Given the description of an element on the screen output the (x, y) to click on. 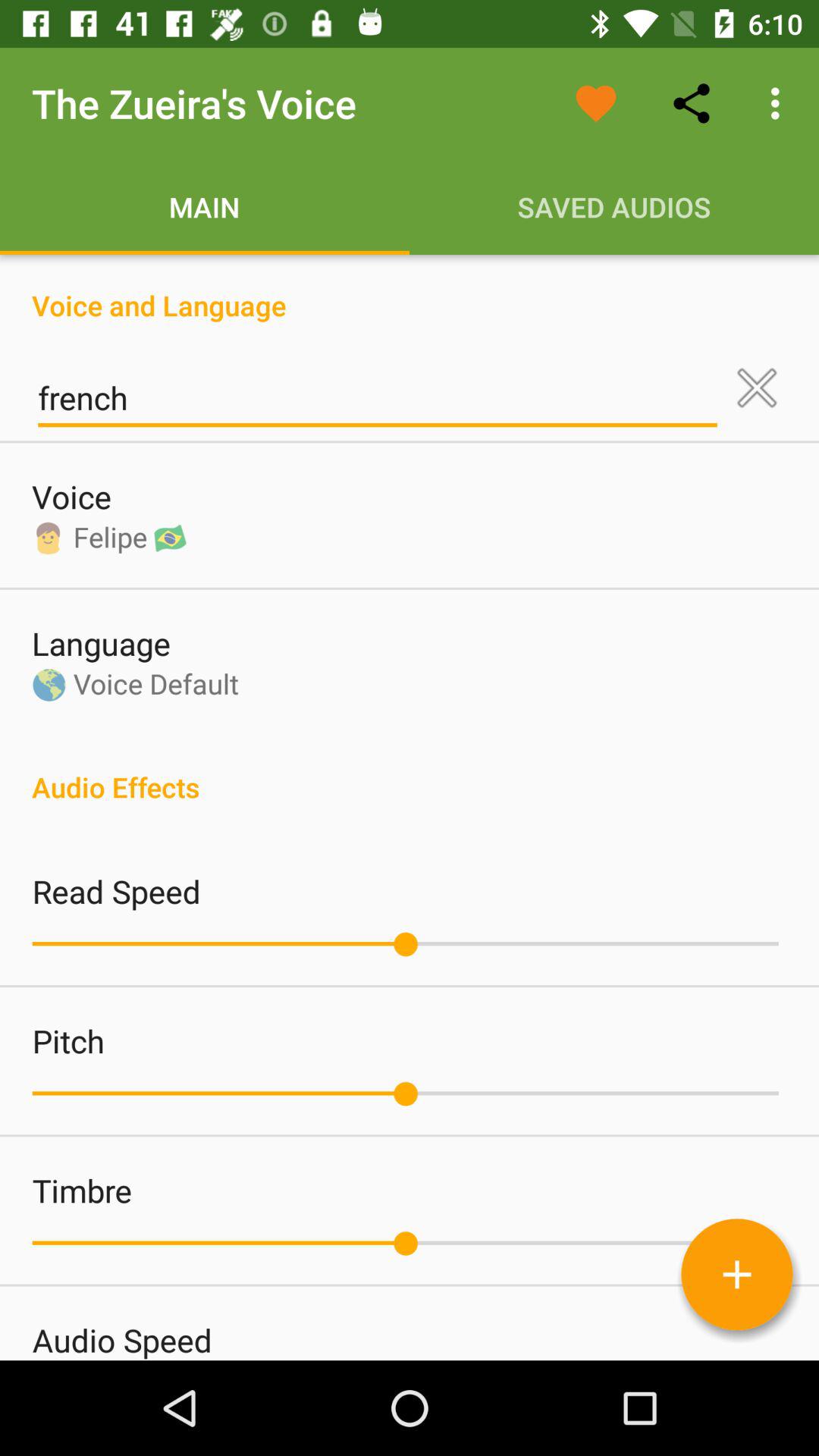
flip until french item (377, 398)
